Given the description of an element on the screen output the (x, y) to click on. 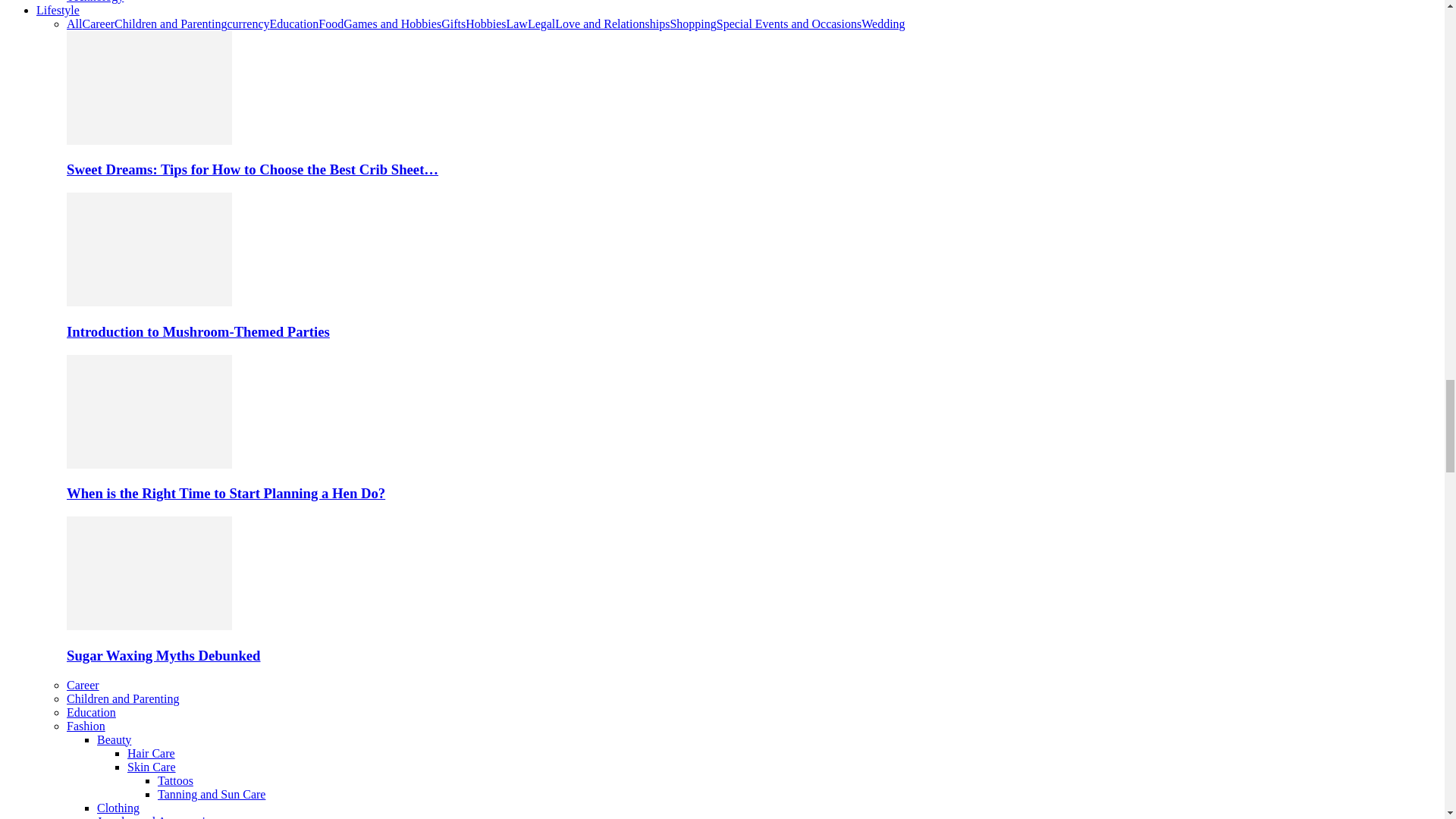
Introduction to Mushroom-Themed Parties (148, 301)
